Given the description of an element on the screen output the (x, y) to click on. 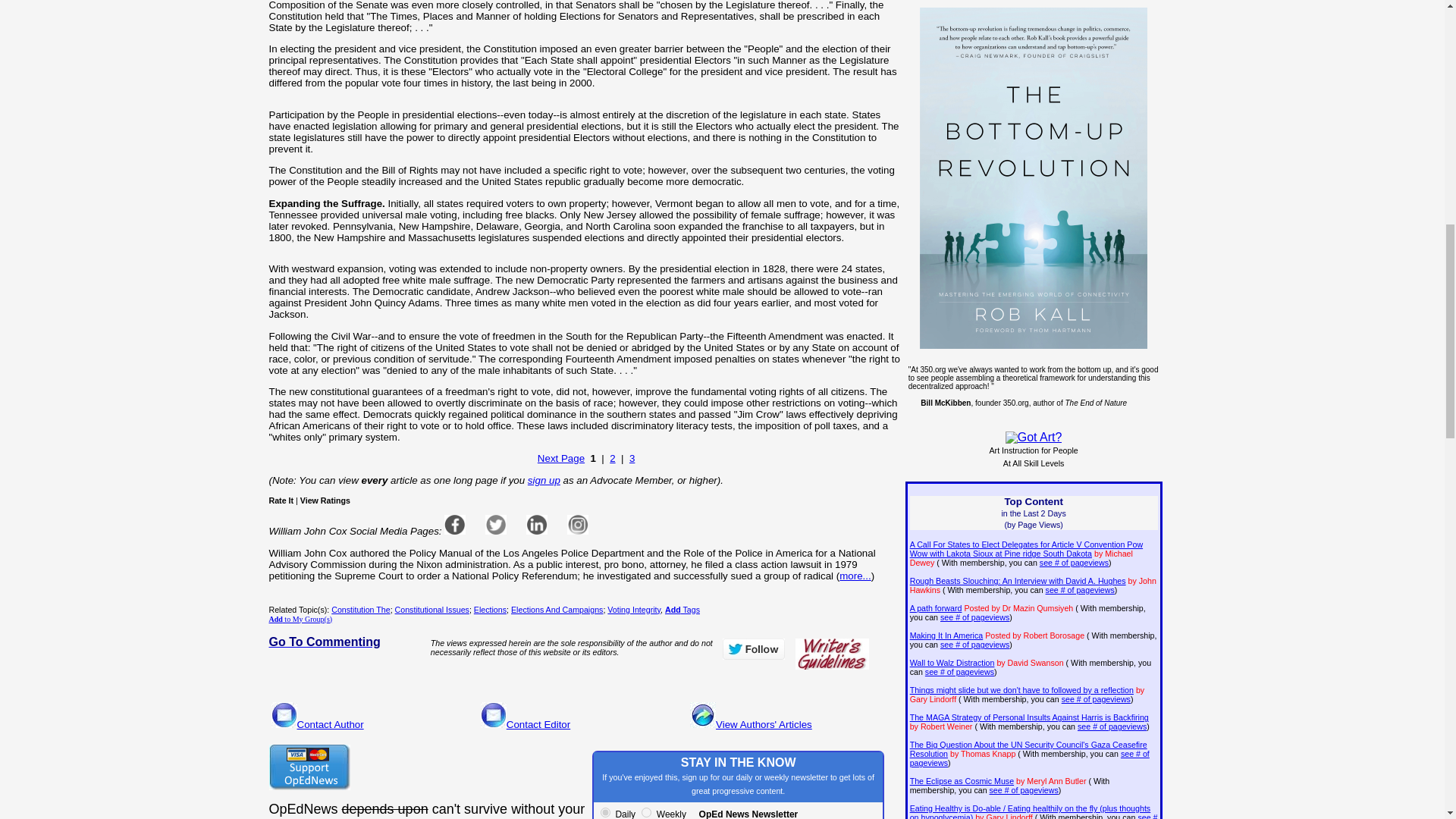
Support OpEdNews (308, 767)
Weekly (646, 812)
Follow Me on Twitter (753, 649)
Instagram page url on login Profile not filled in (577, 524)
Constitution The (360, 609)
Elections And Campaigns (556, 609)
Daily (604, 812)
Voting Integrity (634, 609)
Facebook page url on login Profile not filled in (454, 524)
sign up (543, 480)
